Given the description of an element on the screen output the (x, y) to click on. 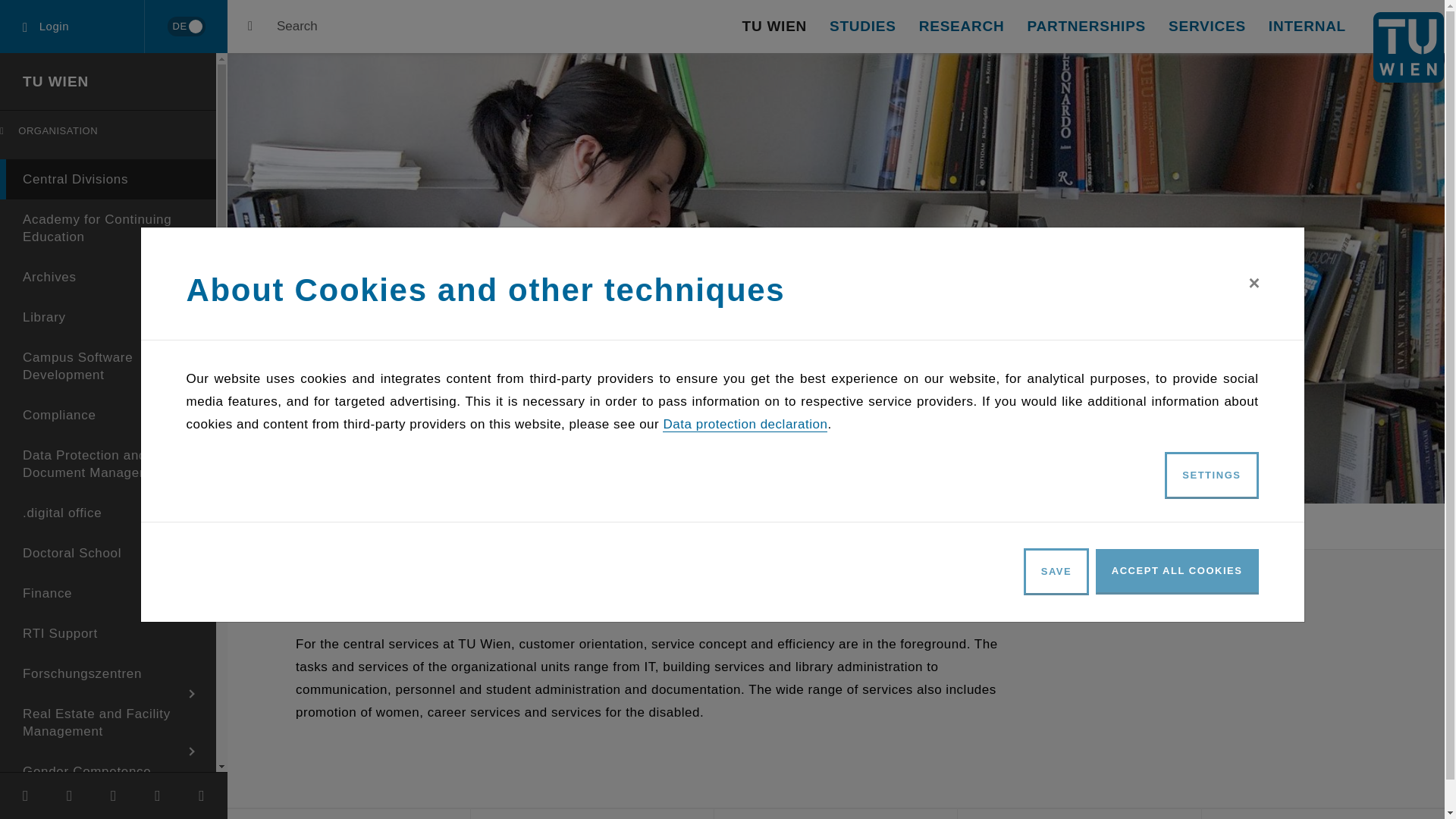
RTI Support (107, 633)
.digital office (107, 513)
Library (107, 317)
Data Protection and Document Management (107, 463)
Compliance (107, 414)
Gender Competence (107, 771)
Internal control system (107, 805)
Central Divisions (107, 178)
Login (72, 26)
Forschungszentren (107, 673)
DE (185, 26)
Doctoral School (107, 553)
TU Wien at Instagram (201, 795)
TU Wien at LinkedIn (113, 795)
Real Estate and Facility Management (107, 722)
